Given the description of an element on the screen output the (x, y) to click on. 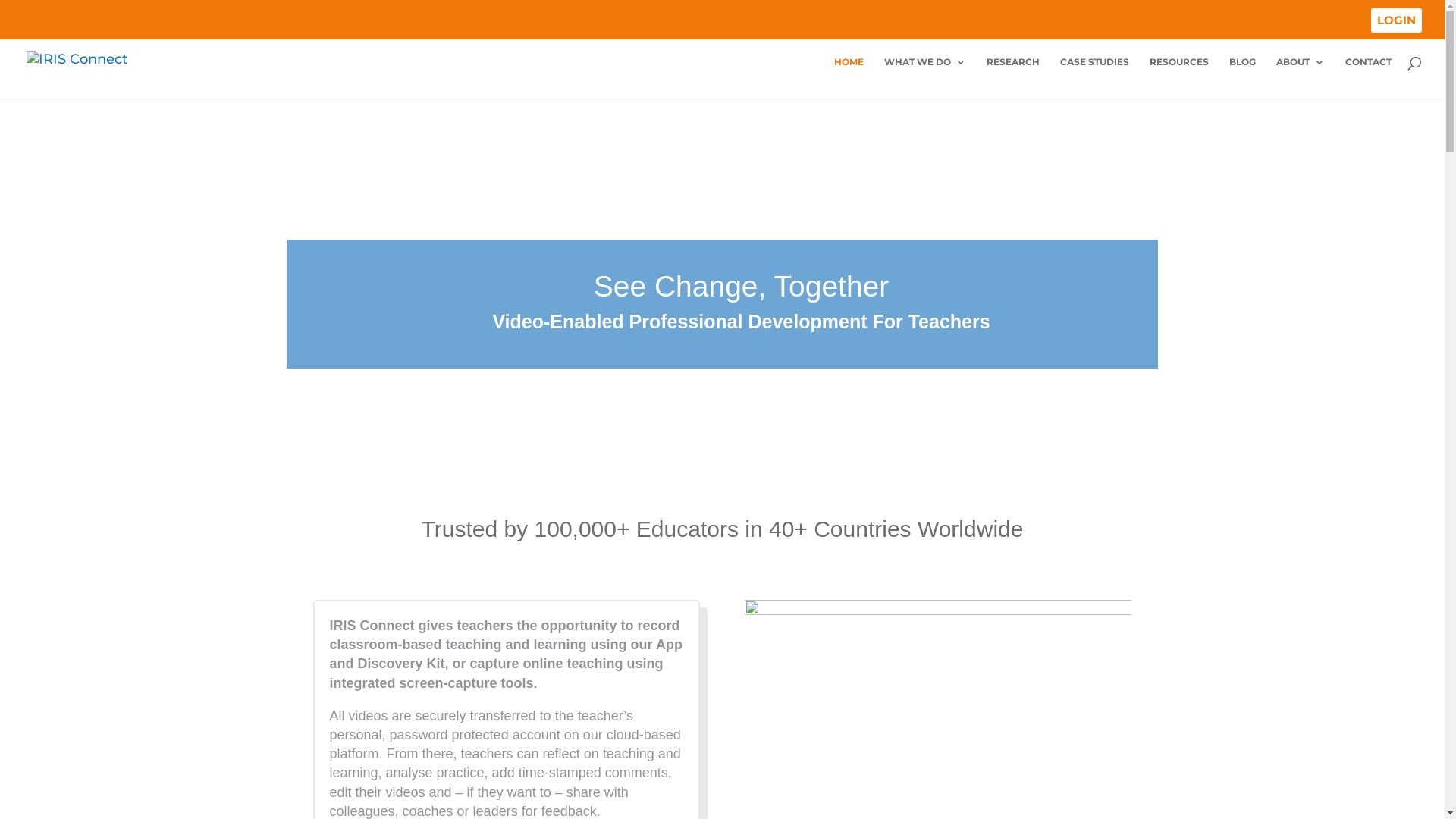
CONTACT Element type: text (1368, 78)
RESOURCES Element type: text (1178, 78)
RESEARCH Element type: text (1012, 78)
BLOG Element type: text (1242, 78)
WHAT WE DO Element type: text (925, 78)
CASE STUDIES Element type: text (1094, 78)
ABOUT Element type: text (1300, 78)
HOME Element type: text (848, 78)
LOGIN Element type: text (1396, 20)
